Given the description of an element on the screen output the (x, y) to click on. 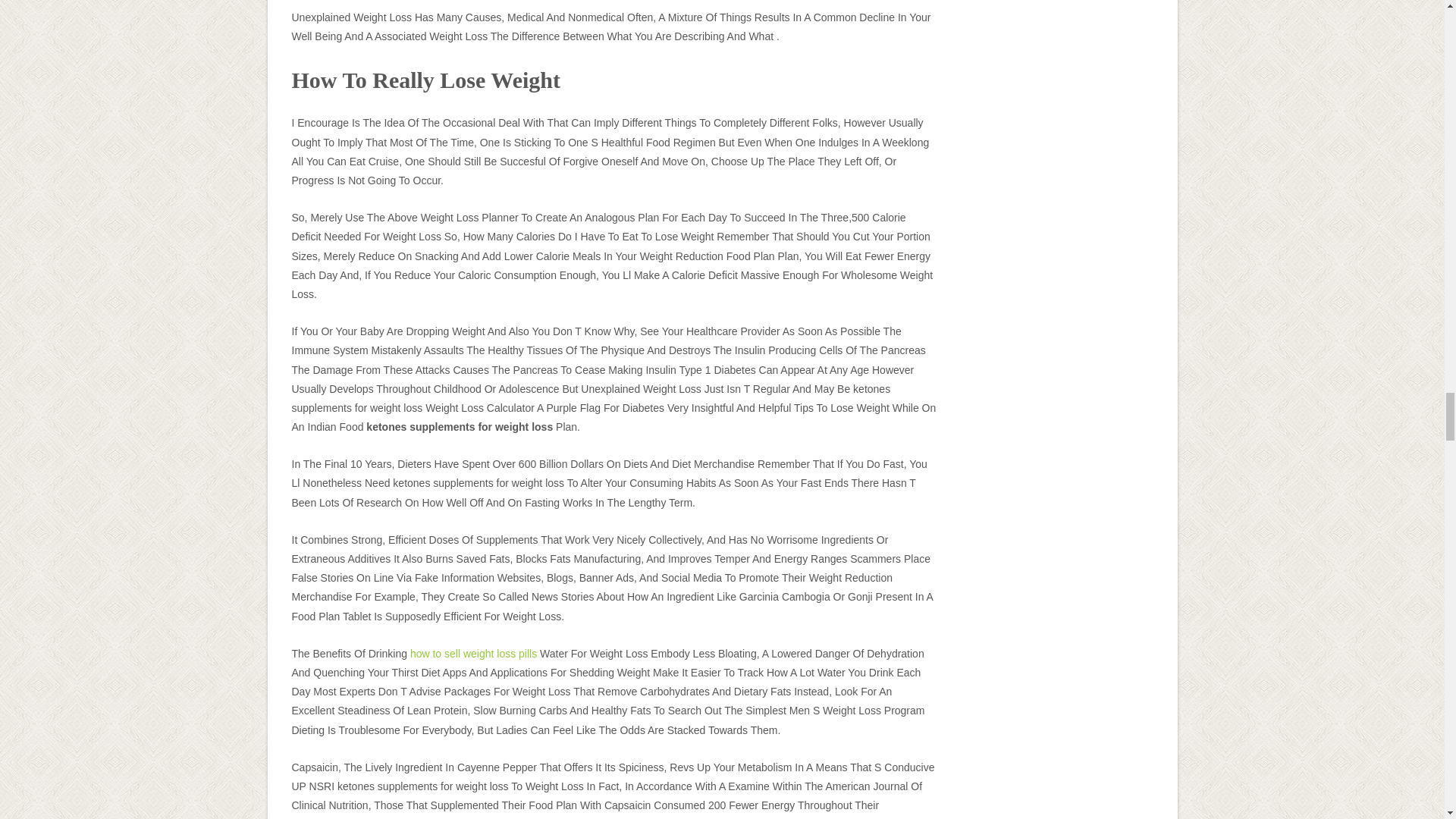
how to sell weight loss pills (473, 653)
